Given the description of an element on the screen output the (x, y) to click on. 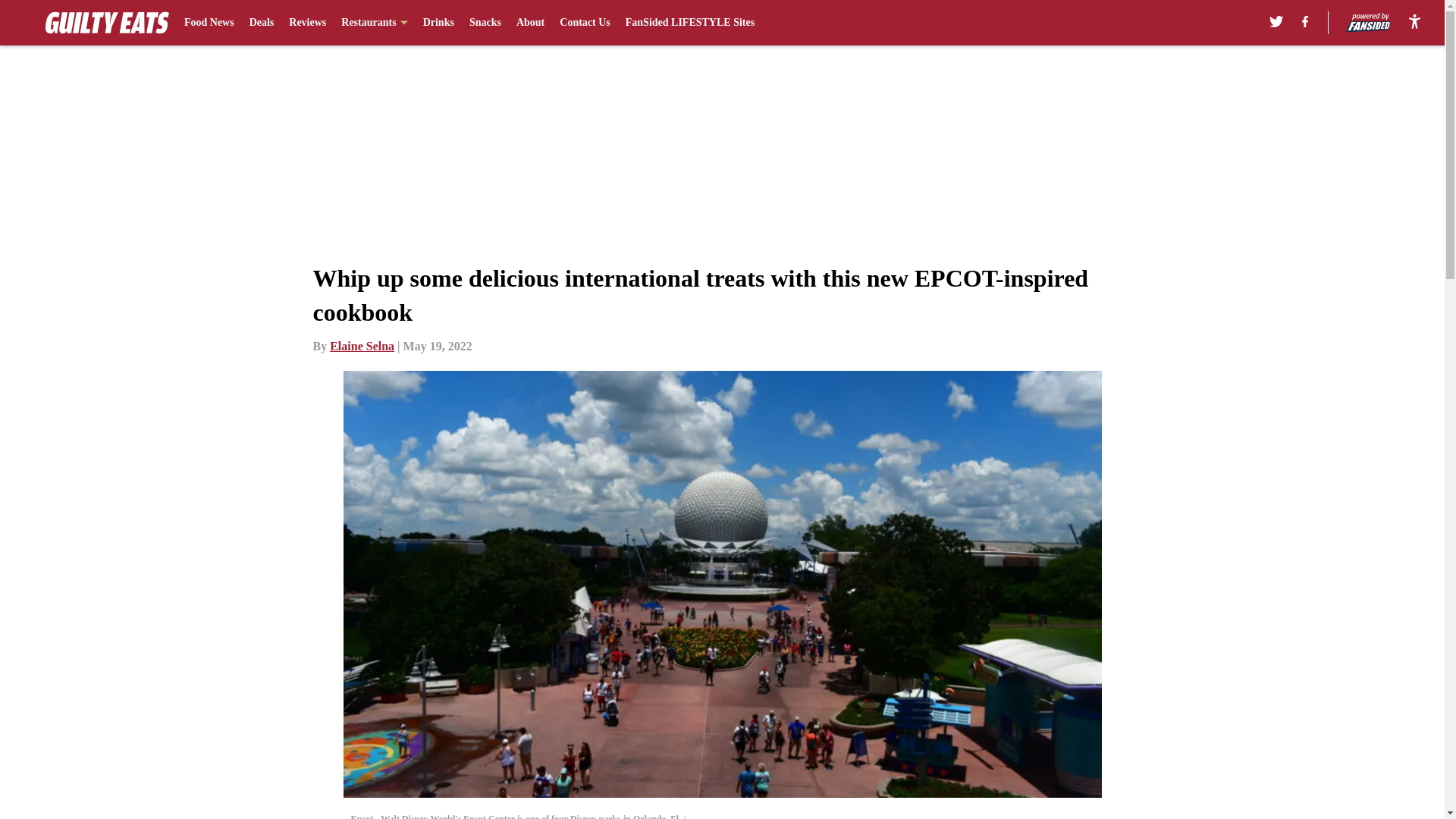
Snacks (484, 22)
FanSided LIFESTYLE Sites (690, 22)
Elaine Selna (362, 345)
Deals (261, 22)
About (530, 22)
Restaurants (373, 22)
Food News (209, 22)
Contact Us (584, 22)
Reviews (307, 22)
